Given the description of an element on the screen output the (x, y) to click on. 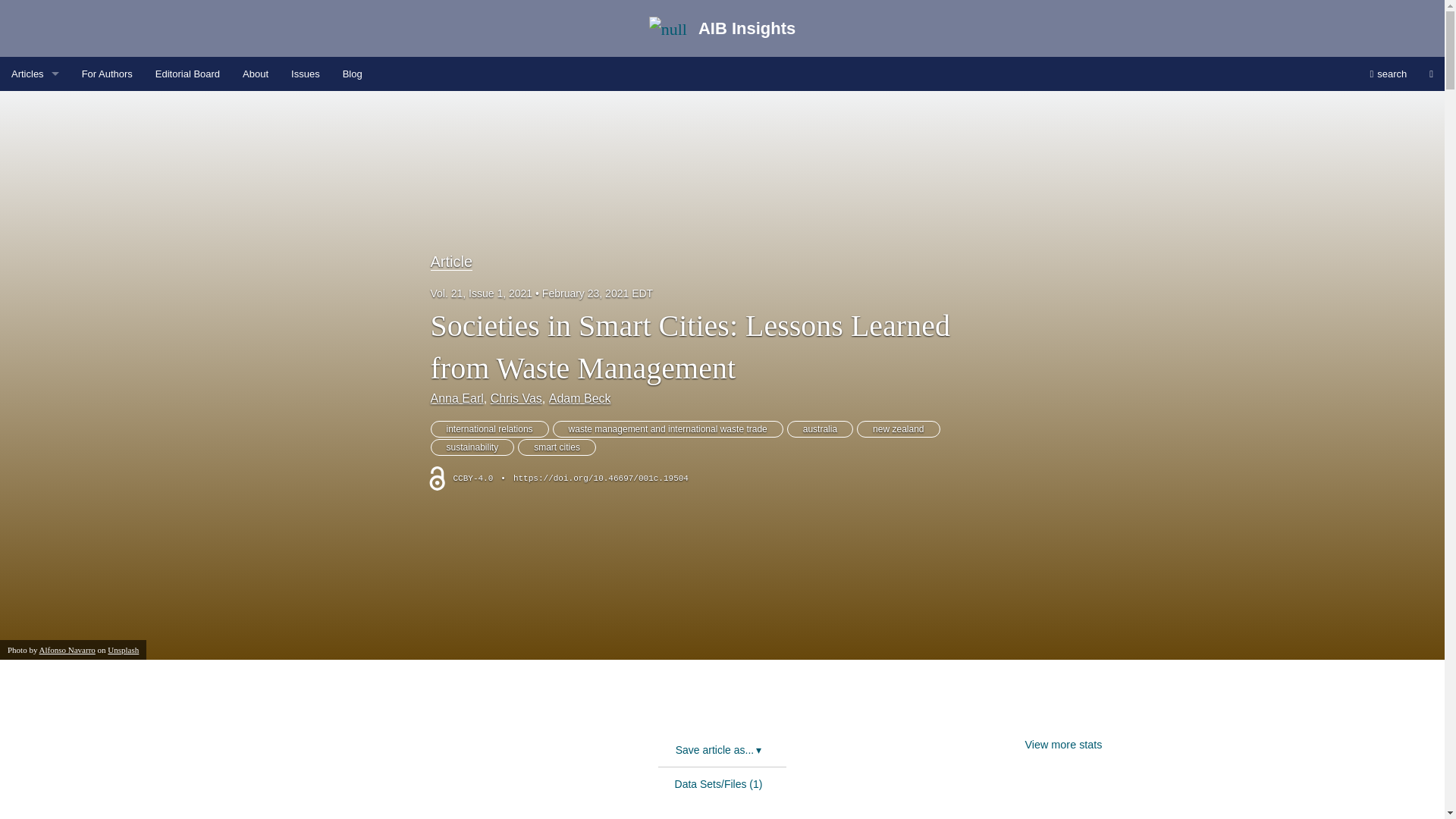
Adam Beck (579, 398)
international relations (489, 428)
AIB Insights (314, 703)
Chris Vas (515, 398)
Article (34, 107)
new zealand (898, 428)
Alfonso Navarro (67, 649)
AIB Insights (722, 28)
Editorial (34, 175)
waste management and international waste trade (668, 428)
Issues (305, 73)
Article (451, 262)
For Authors (106, 73)
search (1388, 73)
Anna Earl (456, 398)
